Given the description of an element on the screen output the (x, y) to click on. 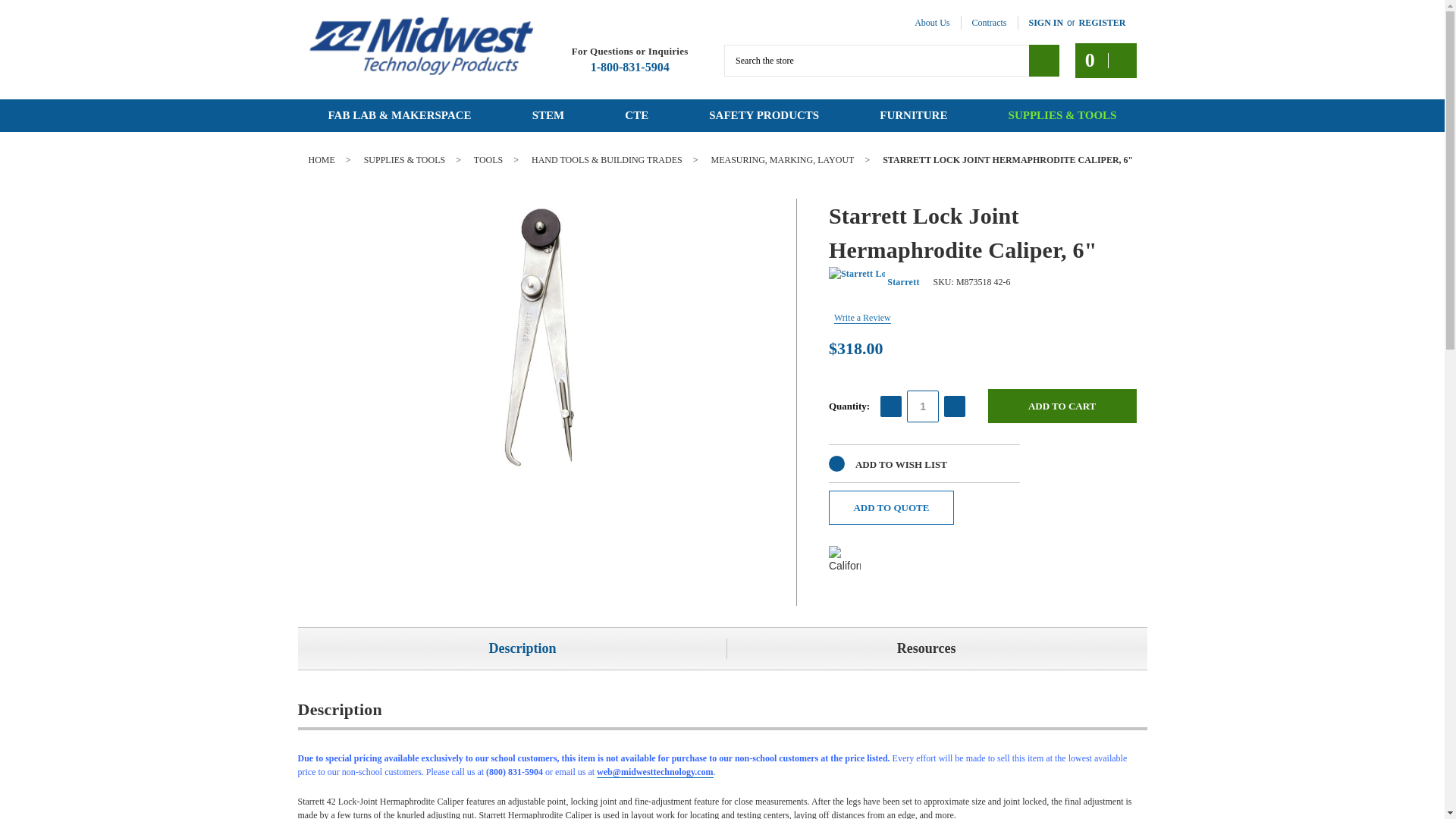
1 (923, 406)
Midwest Technology Products (420, 45)
Add to Cart (1062, 406)
SIGN IN (1046, 22)
1-800-831-5904 (630, 66)
Search (1044, 60)
About Us (931, 22)
REGISTER (1101, 22)
STEM (548, 114)
Toggle Mobile Search (1043, 59)
